Given the description of an element on the screen output the (x, y) to click on. 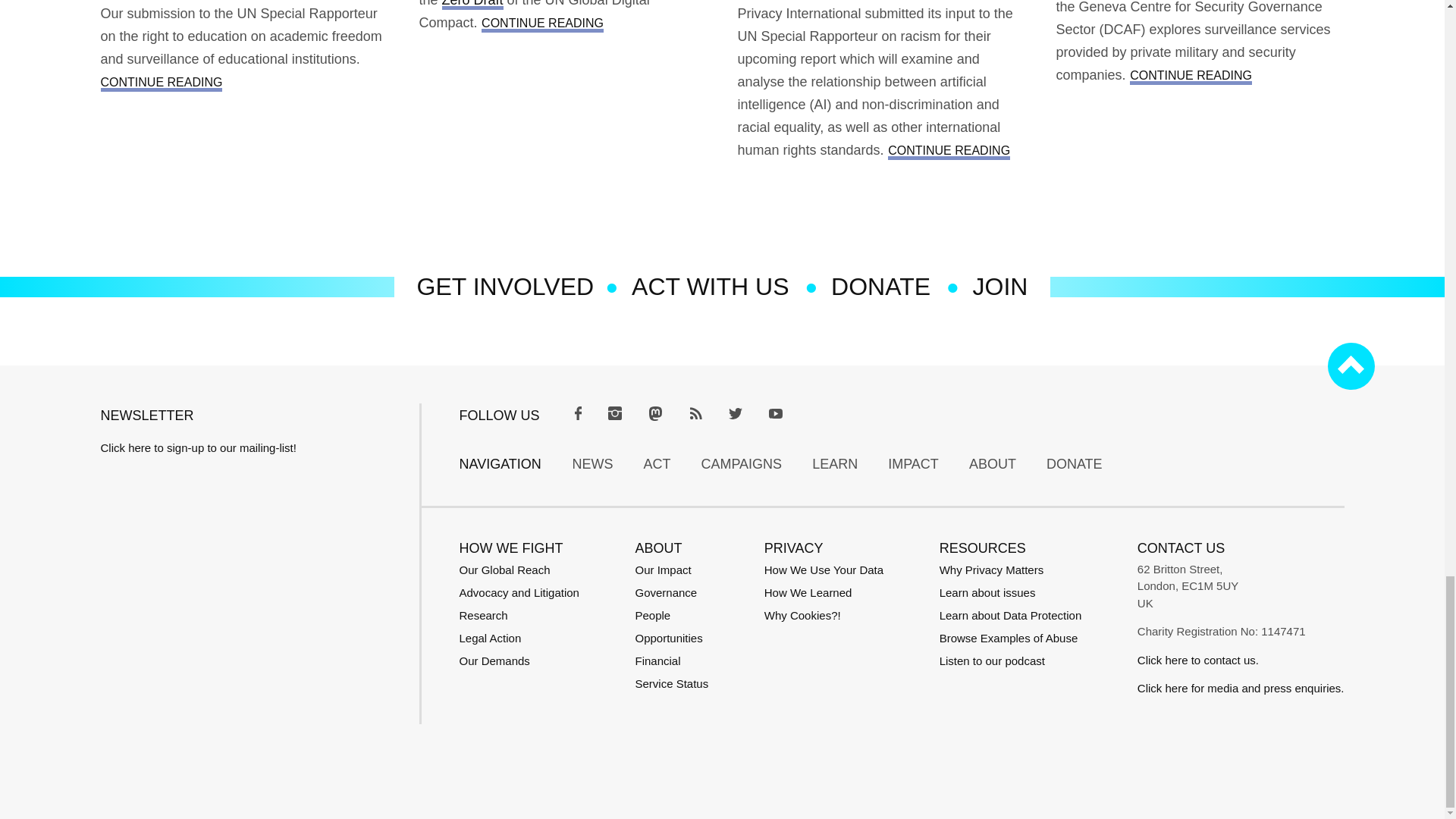
A guide for policy engagement on Data Protection (1010, 615)
Join (999, 286)
Our Global Reach (505, 569)
The Technology Pill podcast (992, 660)
CONTINUE READING (161, 81)
Back to top (1350, 366)
Downtime monitor for PI Services (671, 683)
We need your support, donate now (880, 286)
Act with US (710, 286)
Index of media stories and reports about exploitation (1008, 637)
